Given the description of an element on the screen output the (x, y) to click on. 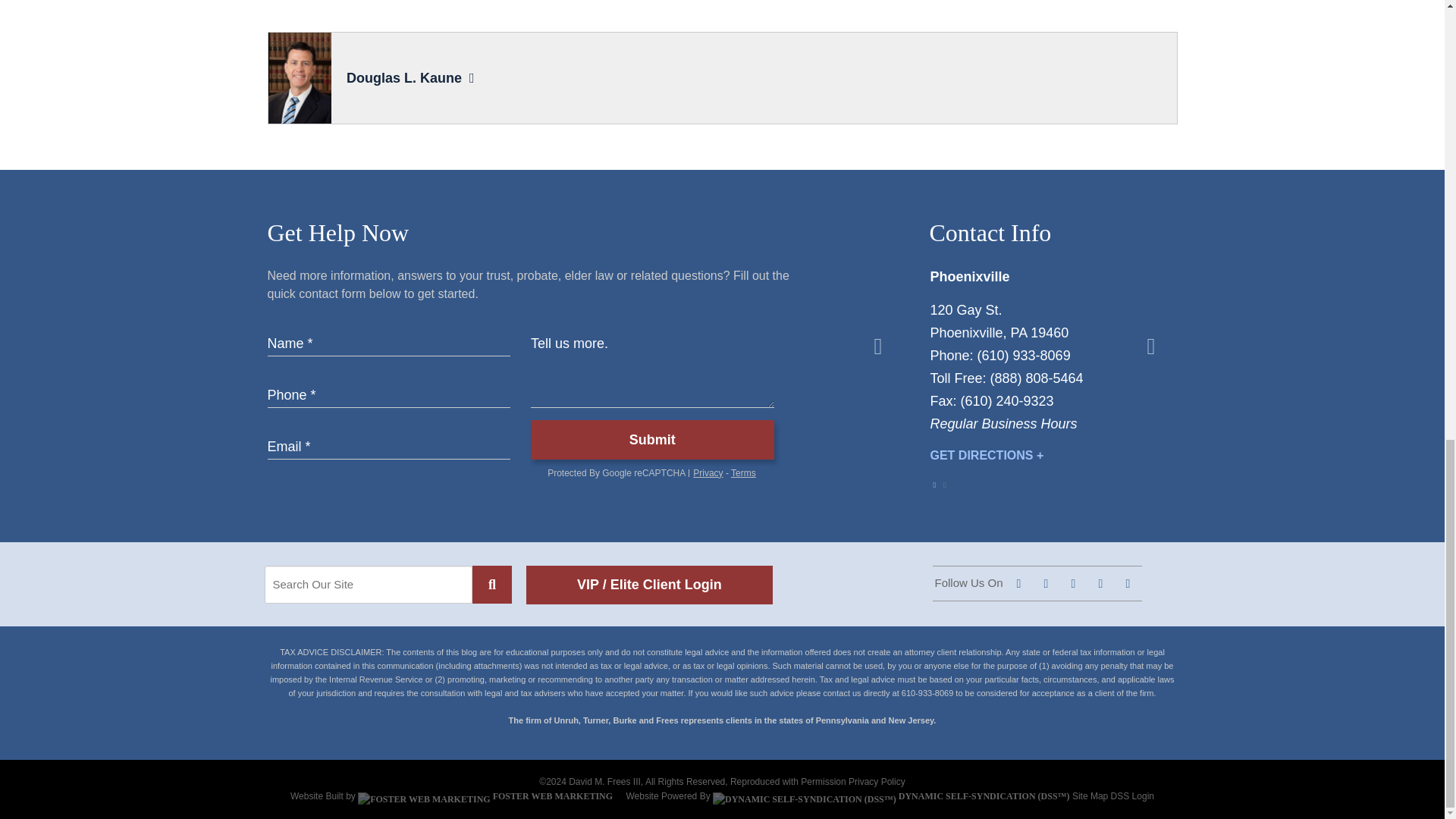
Privacy (707, 472)
Submit (652, 440)
Search (491, 584)
Douglas L. Kaune (403, 77)
Terms (742, 472)
